Given the description of an element on the screen output the (x, y) to click on. 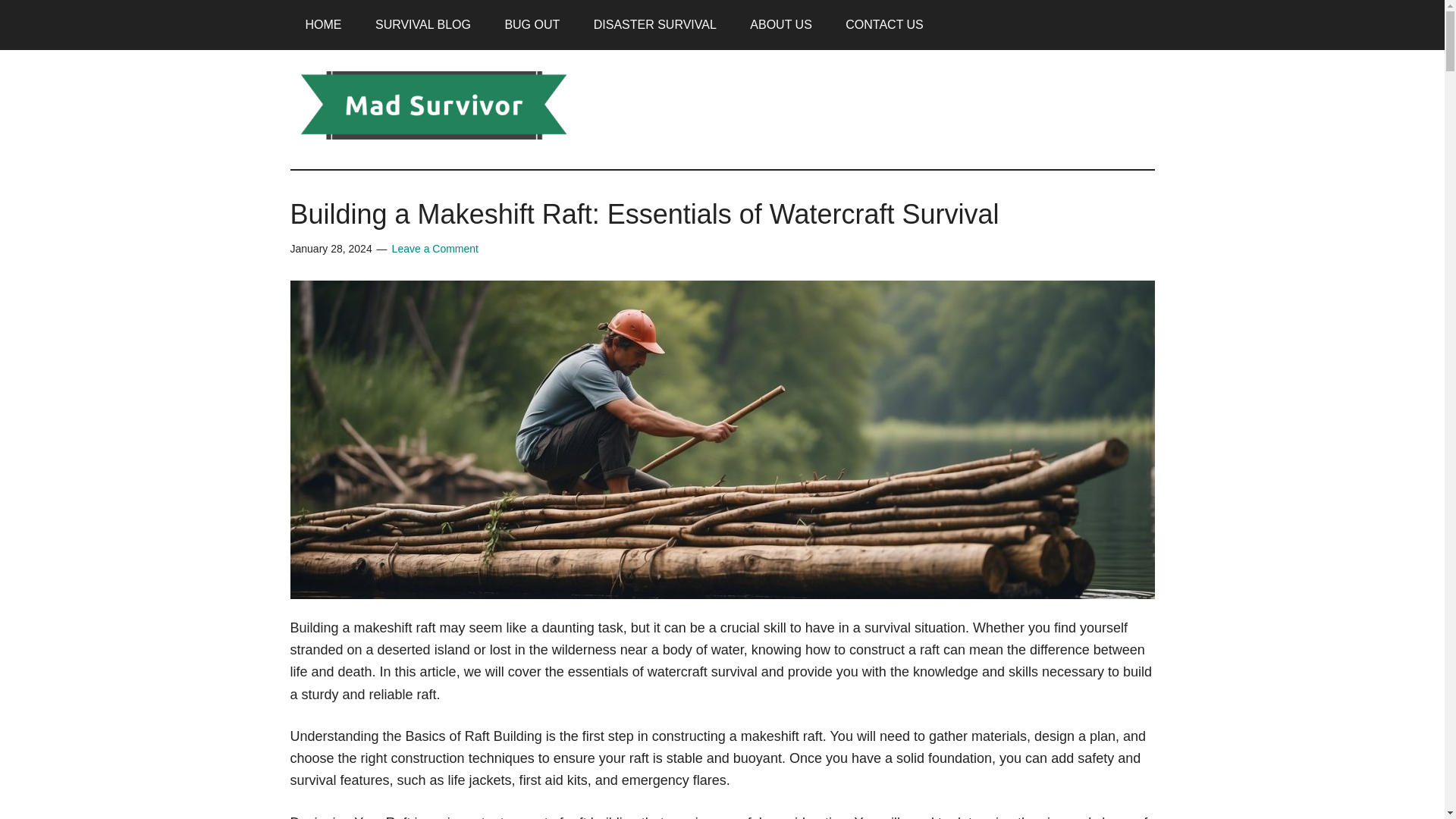
DISASTER SURVIVAL (655, 24)
SURVIVAL BLOG (422, 24)
HOME (322, 24)
CONTACT US (884, 24)
ABOUT US (781, 24)
BUG OUT (532, 24)
Leave a Comment (435, 248)
